Given the description of an element on the screen output the (x, y) to click on. 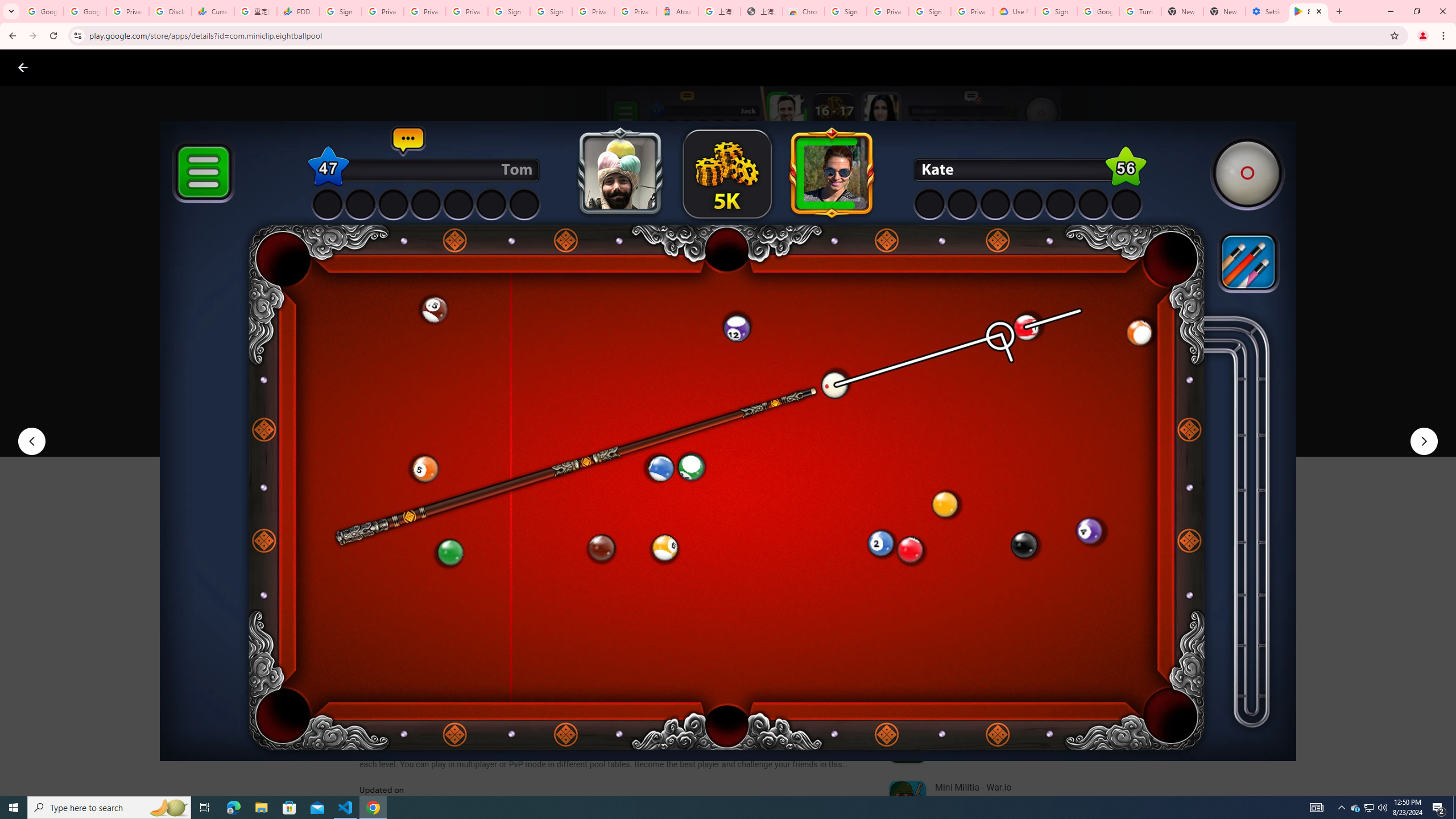
Play trailer (1062, 423)
Google Workspace Admin Community (42, 11)
Previous (31, 441)
Help Center (1409, 67)
Share (506, 422)
Sign in - Google Accounts (509, 11)
Sign in - Google Accounts (930, 11)
Install (416, 423)
Content rating (553, 373)
